Given the description of an element on the screen output the (x, y) to click on. 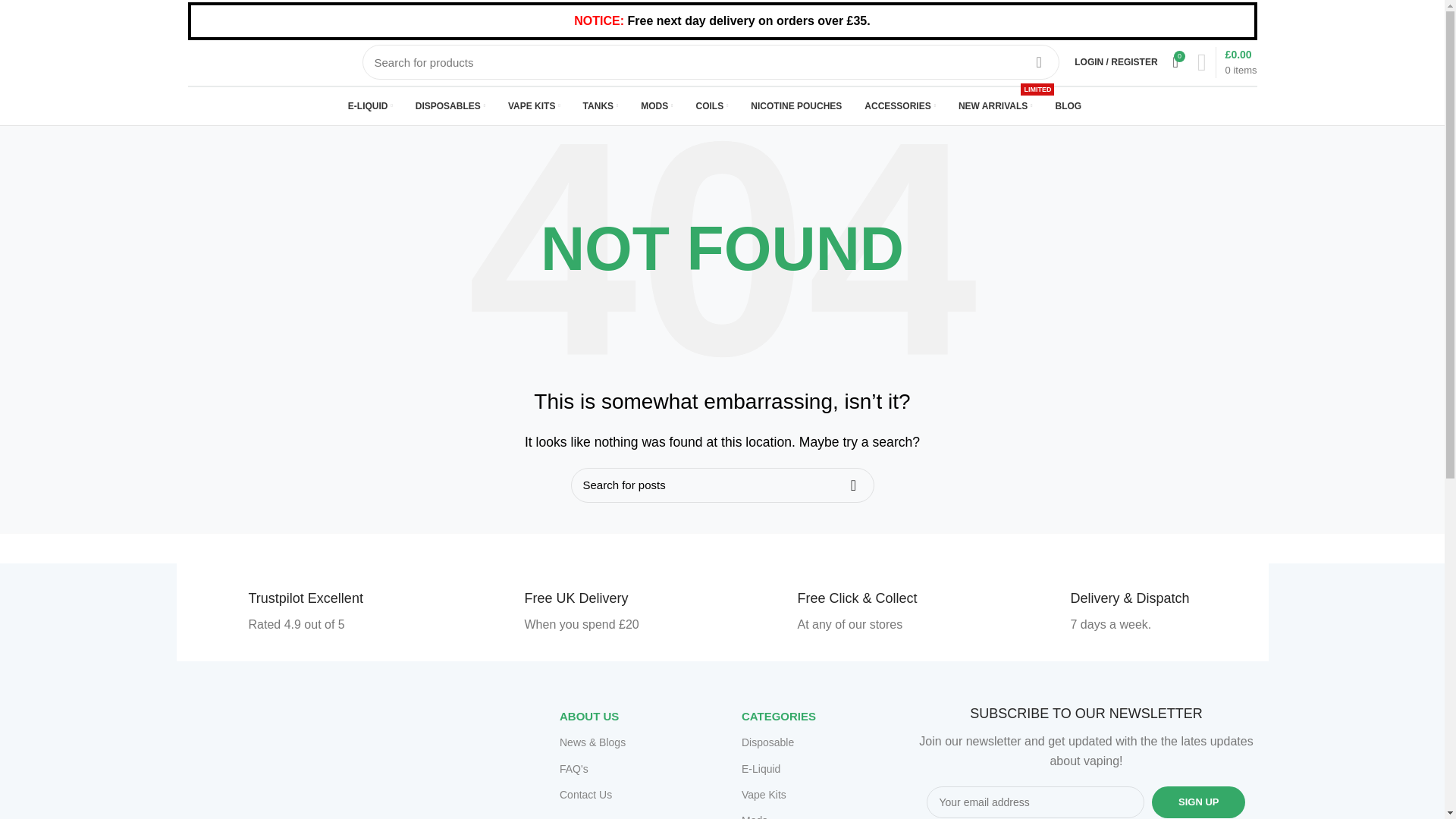
Sign up (1197, 802)
Search for products (710, 62)
Shopping cart (1227, 61)
My account (1115, 61)
SEARCH (1039, 62)
E-LIQUID (370, 105)
